Given the description of an element on the screen output the (x, y) to click on. 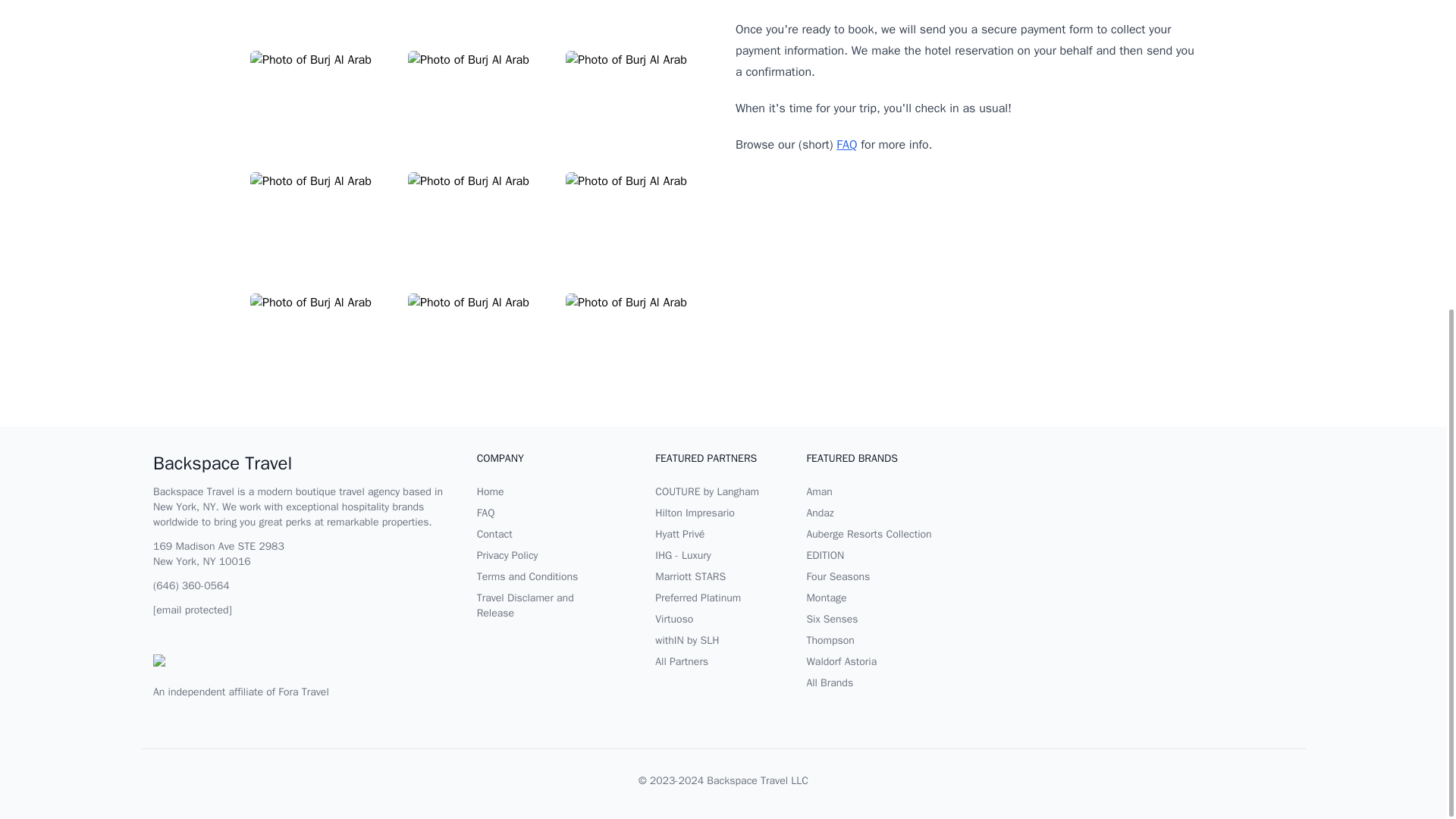
IHG - Luxury (682, 554)
Terms and Conditions (527, 576)
Privacy Policy (507, 554)
Marriott STARS (690, 576)
FAQ (846, 144)
EDITION (825, 554)
withIN by SLH (687, 640)
Aman (818, 491)
All Partners (681, 661)
Thompson (829, 640)
COUTURE by Langham (706, 491)
Fora Travel (303, 691)
Contact (494, 533)
FAQ (486, 512)
All Brands (829, 682)
